Given the description of an element on the screen output the (x, y) to click on. 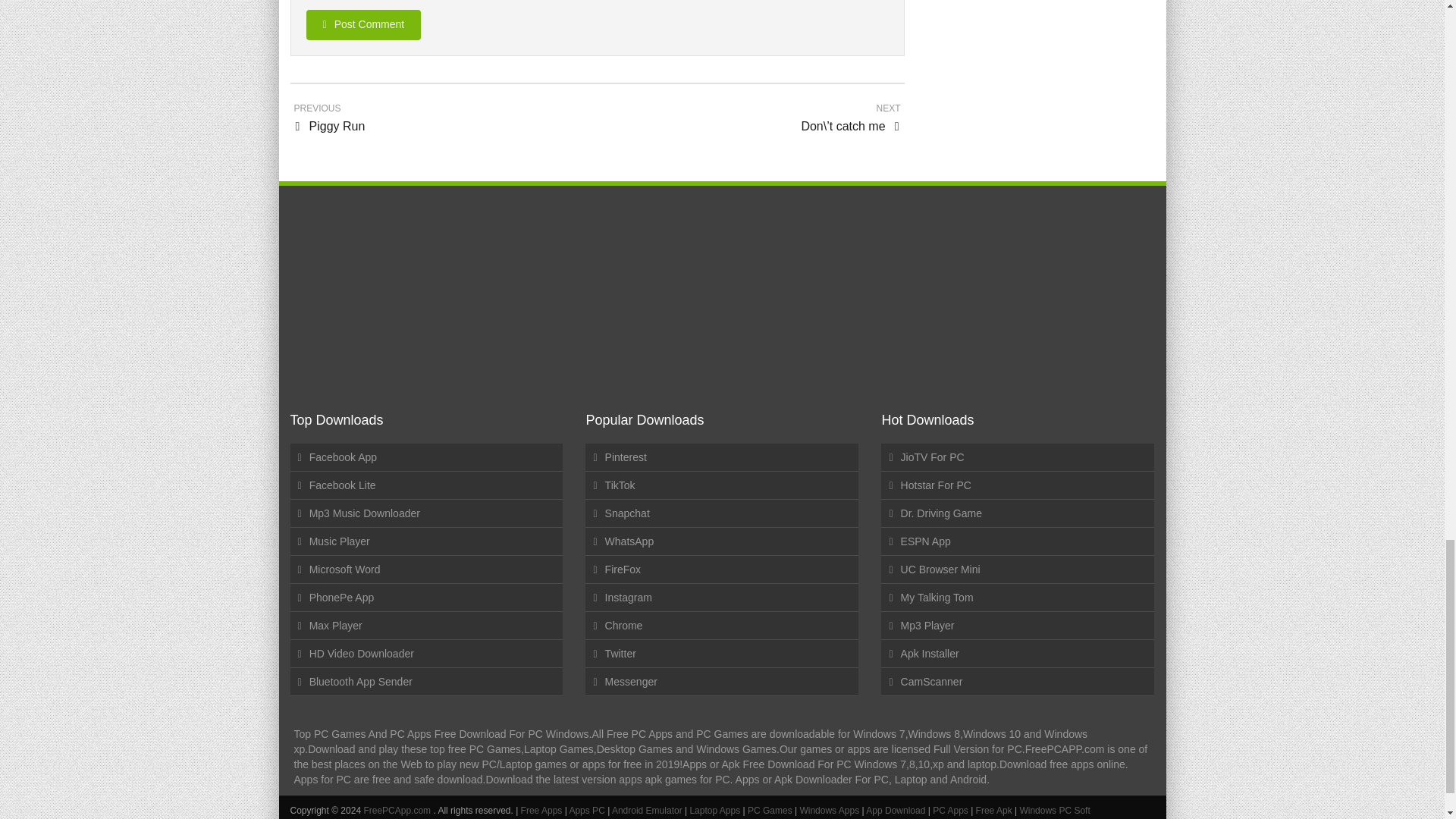
PC Games (771, 810)
Windows Apps (830, 810)
Android Emulator (646, 810)
PC Apps (952, 810)
App Download (896, 810)
Apps PC (586, 810)
Free Apps (542, 810)
FreePCApp.com (396, 810)
Laptop Apps (713, 810)
